Given the description of an element on the screen output the (x, y) to click on. 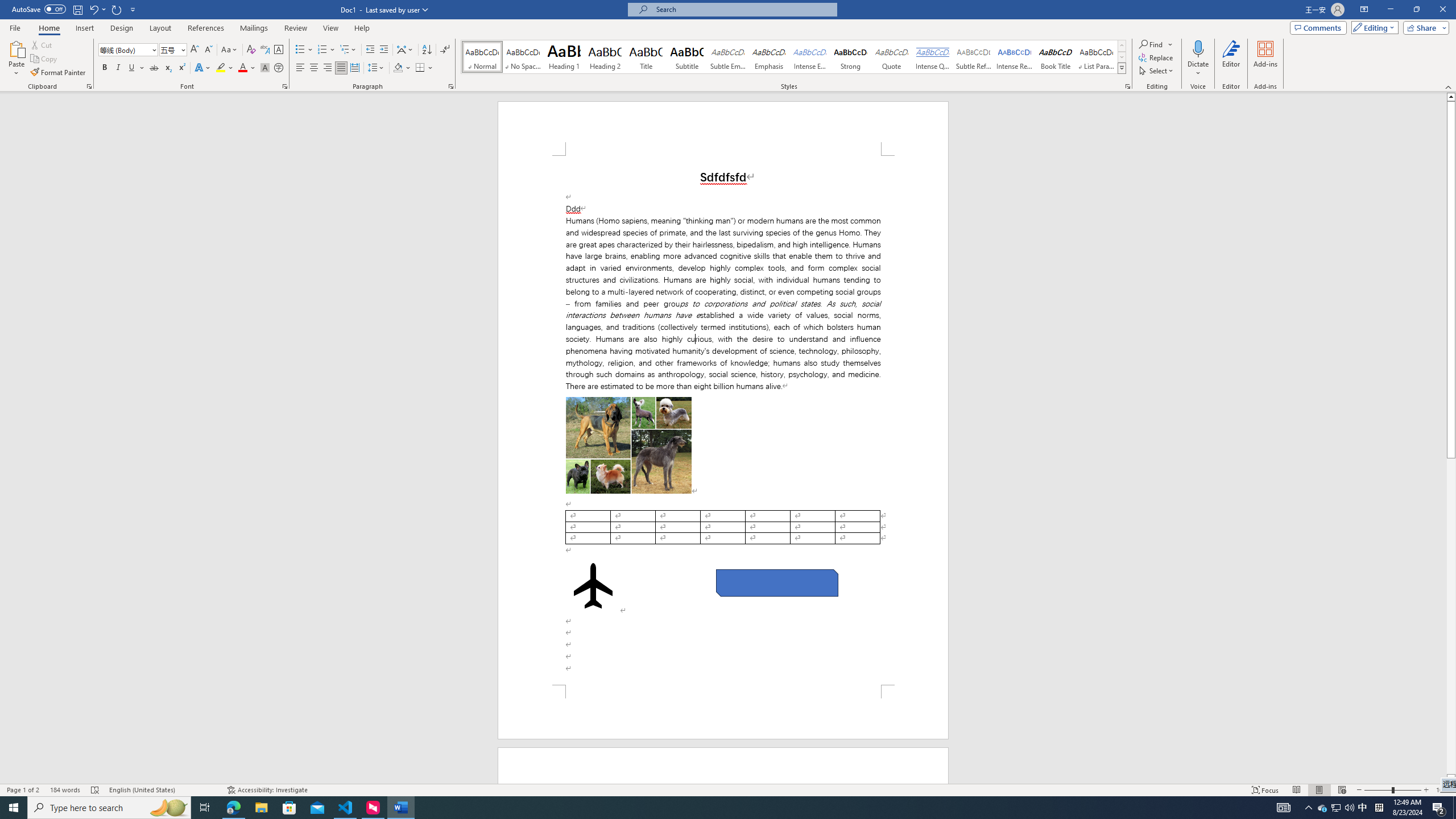
Emphasis (768, 56)
Center (313, 67)
Font... (285, 85)
Heading 1 (564, 56)
Subtle Emphasis (727, 56)
Intense Reference (1014, 56)
Book Title (1055, 56)
Office Clipboard... (88, 85)
Open (182, 49)
Row up (1121, 45)
